Given the description of an element on the screen output the (x, y) to click on. 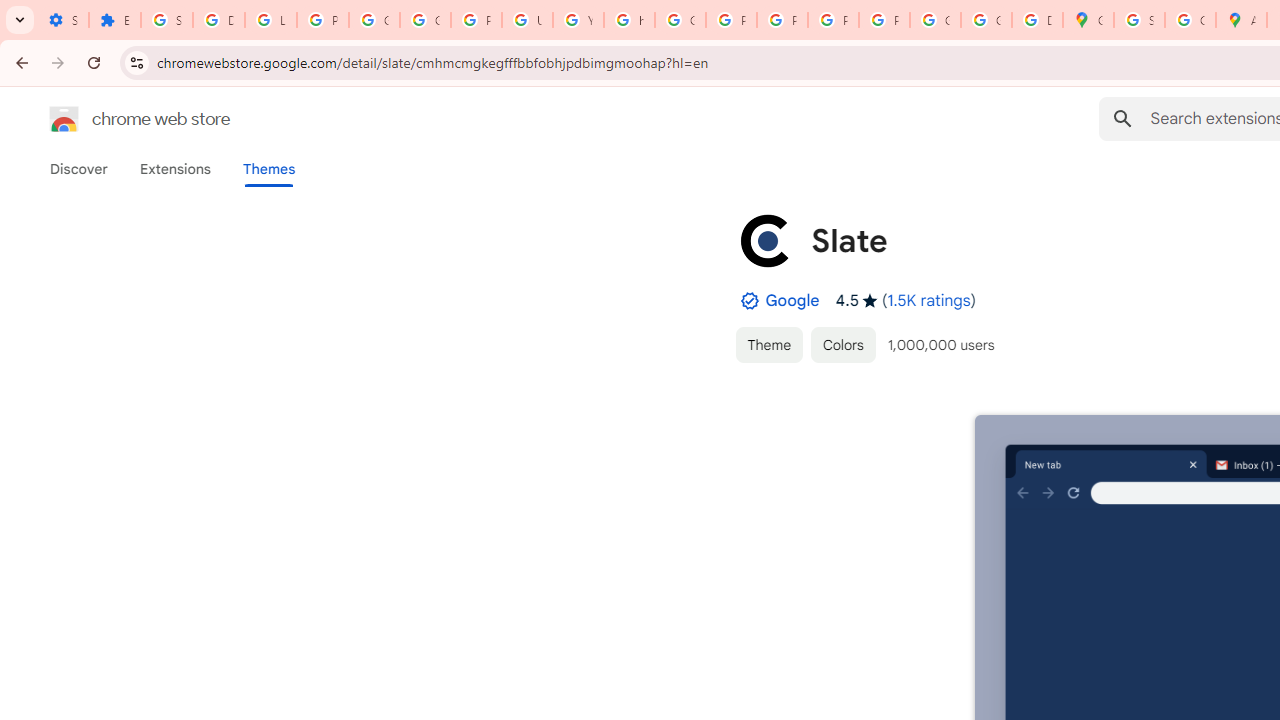
Extensions (174, 169)
Themes (269, 169)
Sign in - Google Accounts (166, 20)
Item logo image for Slate (765, 240)
Google Maps (1087, 20)
Sign in - Google Accounts (1138, 20)
Delete photos & videos - Computer - Google Photos Help (218, 20)
Privacy Help Center - Policies Help (731, 20)
